Given the description of an element on the screen output the (x, y) to click on. 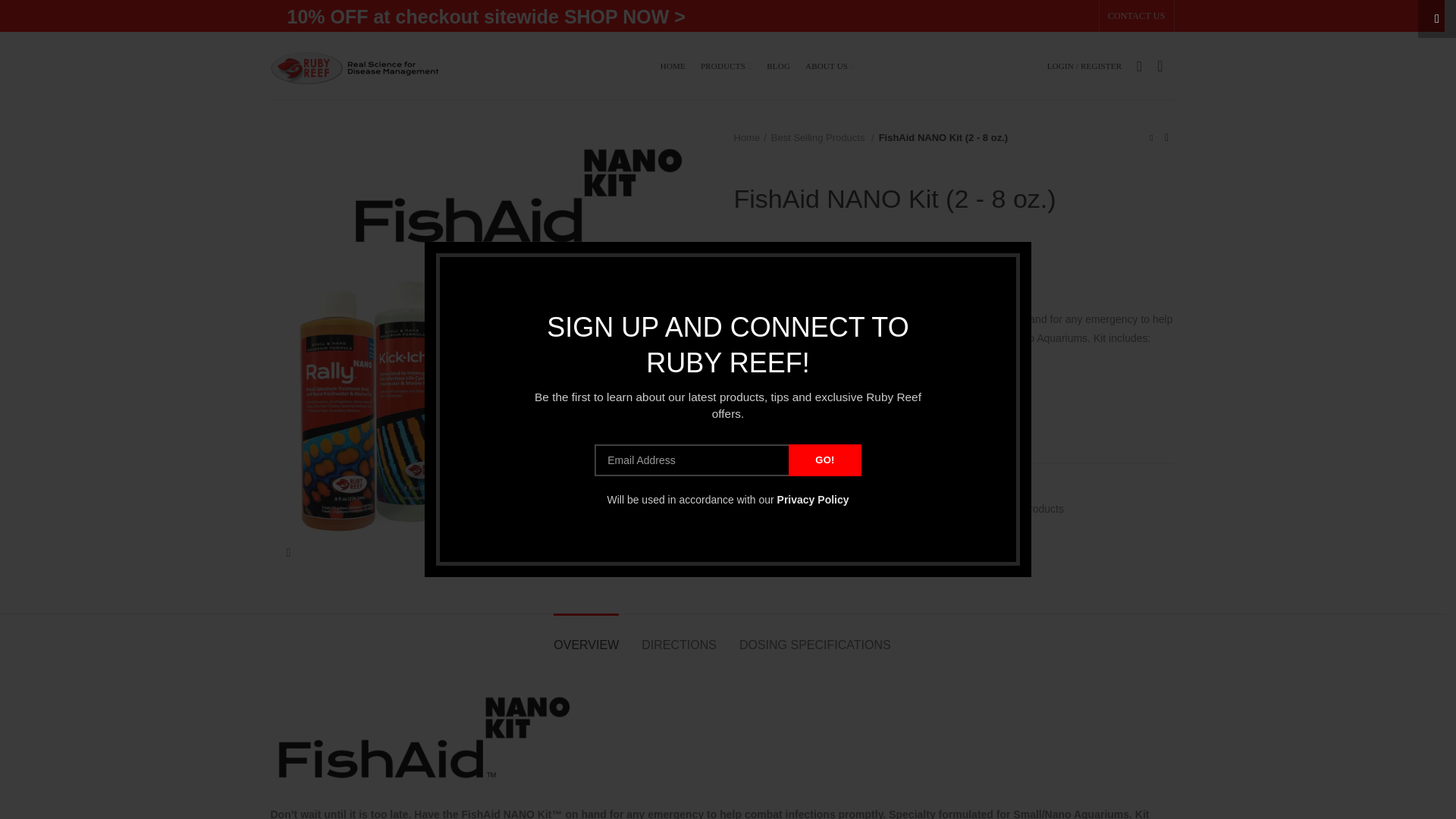
CONTACT US (1136, 15)
Go! (824, 459)
Back to the frontpage (750, 137)
Privacy Policy (812, 499)
Add to wishlist (774, 441)
Go! (824, 459)
